Given the description of an element on the screen output the (x, y) to click on. 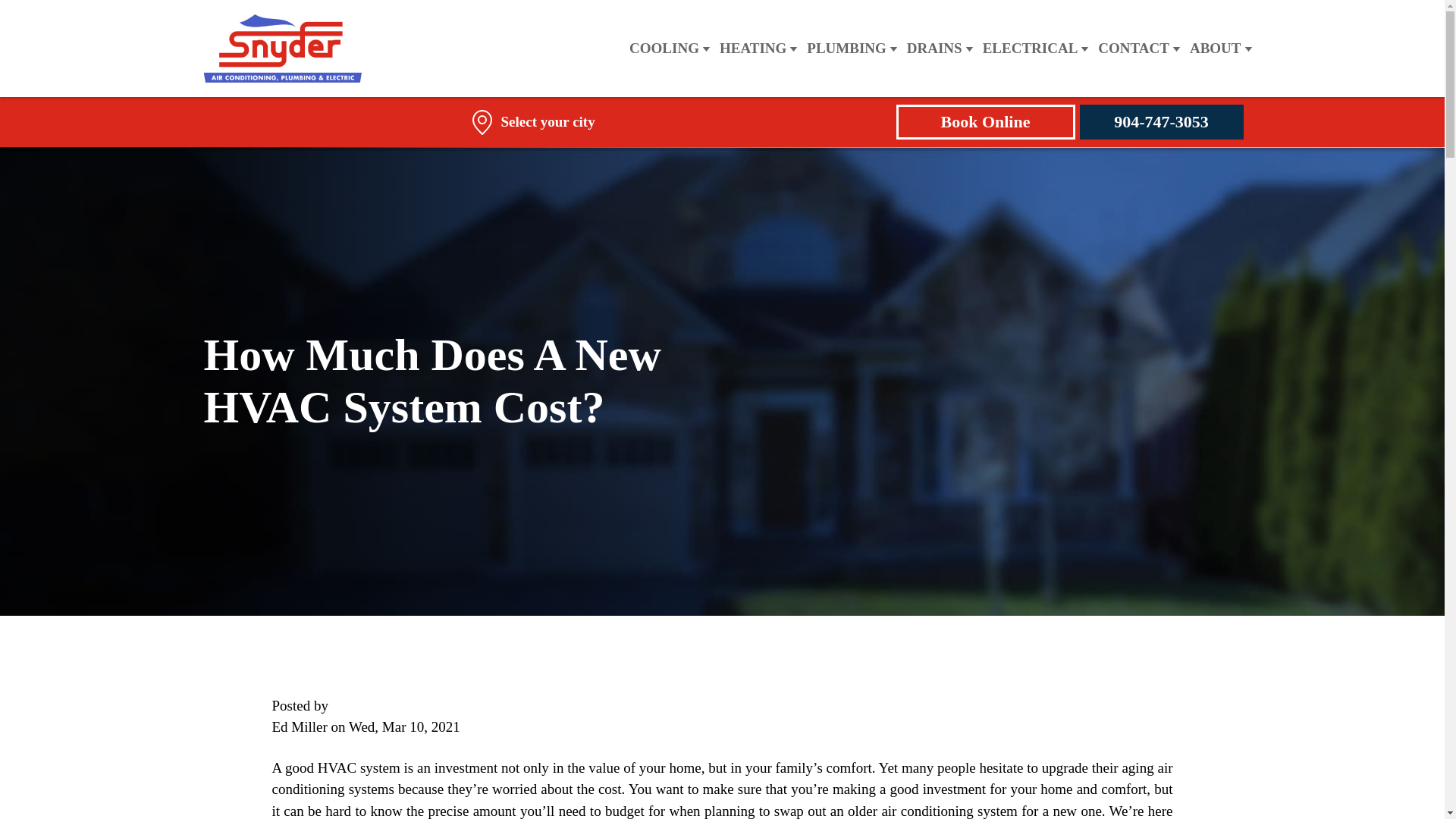
PLUMBING (846, 48)
HEATING (752, 48)
COOLING (663, 48)
